Given the description of an element on the screen output the (x, y) to click on. 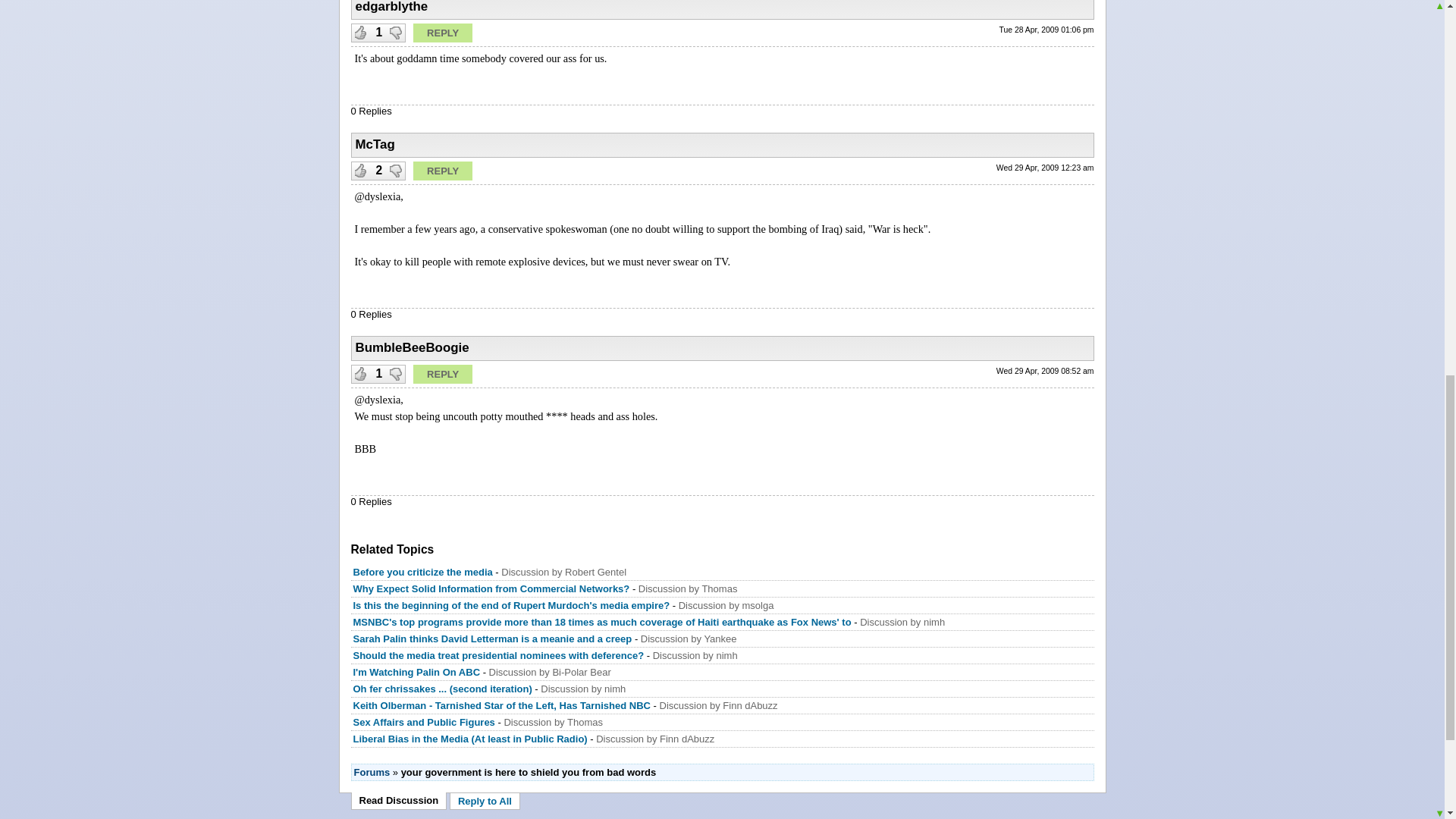
Reply (442, 170)
Should the media treat presidential nominees with deference? (499, 655)
I'm Watching Palin On ABC (416, 672)
Sarah Palin thinks David Letterman is a meanie and a creep (492, 638)
Reply (442, 32)
Sex Affairs and Public Figures (424, 722)
Forums (371, 772)
